Given the description of an element on the screen output the (x, y) to click on. 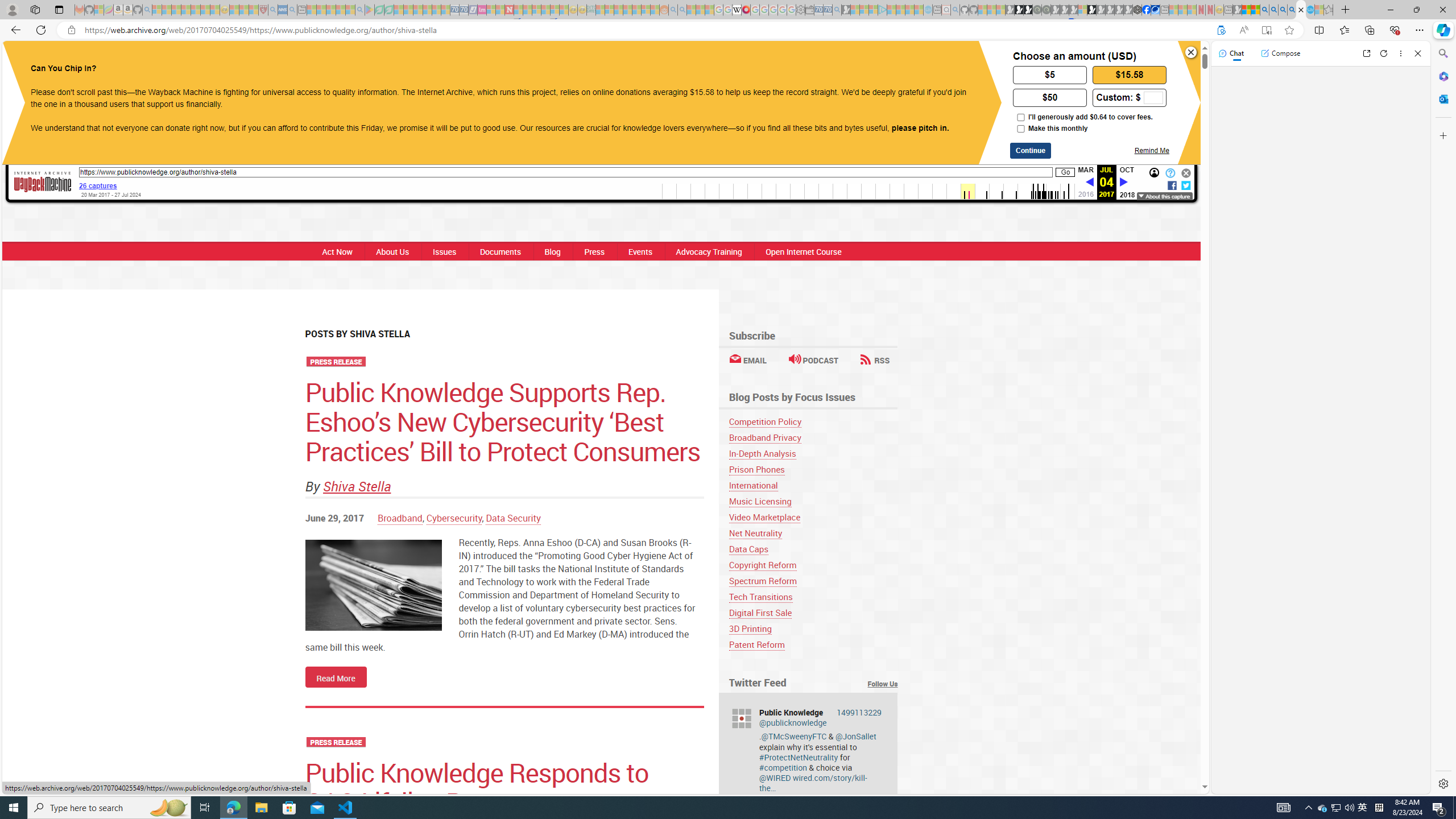
Next capture (1123, 181)
utah sues federal government - Search - Sleeping (291, 9)
Data Security (513, 517)
Next capture (1123, 182)
Copyright Reform (762, 564)
Expand the search (875, 56)
PRESS RELEASE (335, 742)
 img (373, 584)
